Given the description of an element on the screen output the (x, y) to click on. 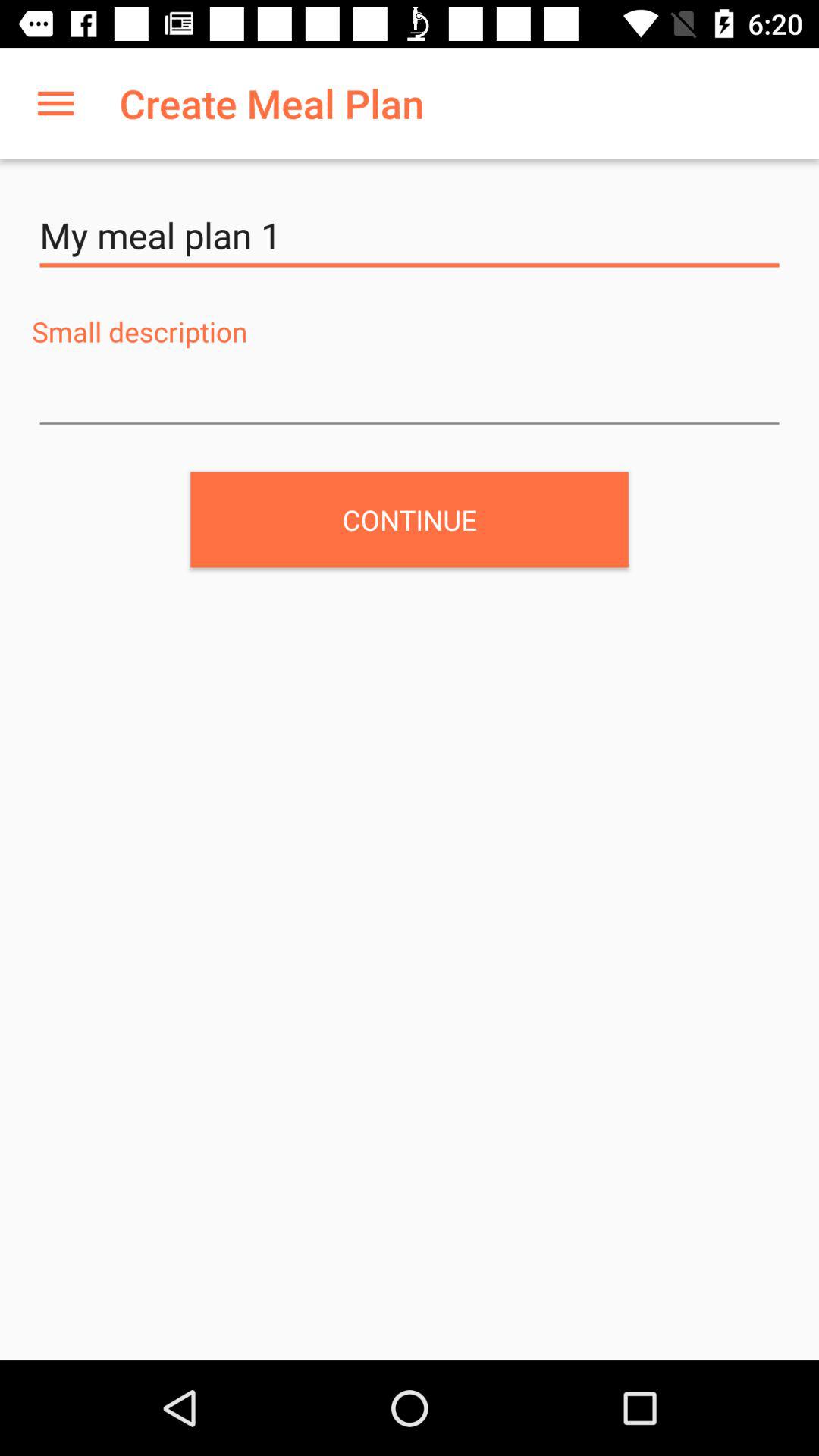
click the icon at the center (409, 519)
